Given the description of an element on the screen output the (x, y) to click on. 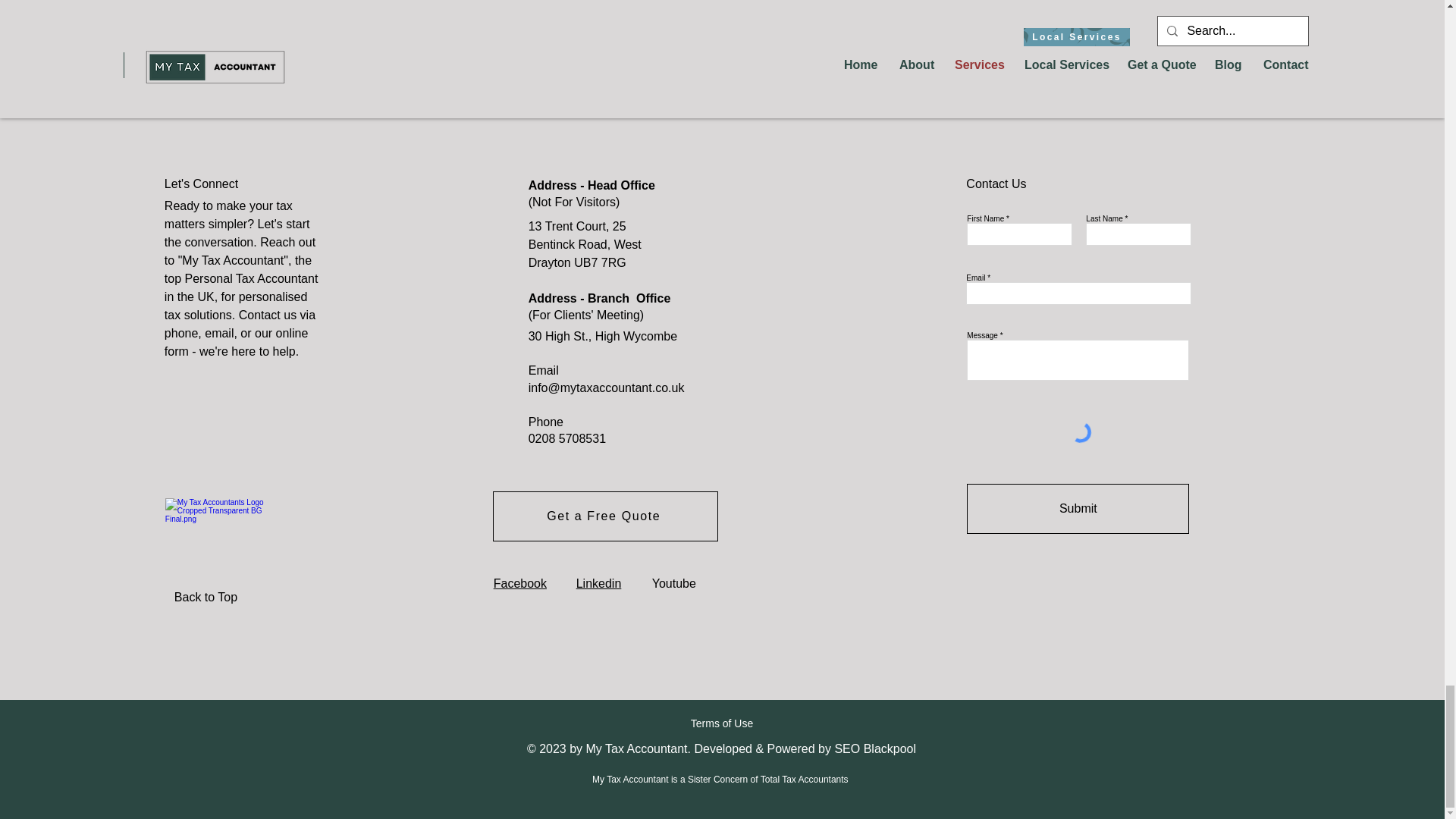
Terms of Use (721, 723)
Back to Top (228, 597)
Get a Free Quote (605, 516)
Submit (1077, 508)
Facebook (520, 583)
SEO Blackpoo (873, 748)
Linkedin (598, 583)
